Given the description of an element on the screen output the (x, y) to click on. 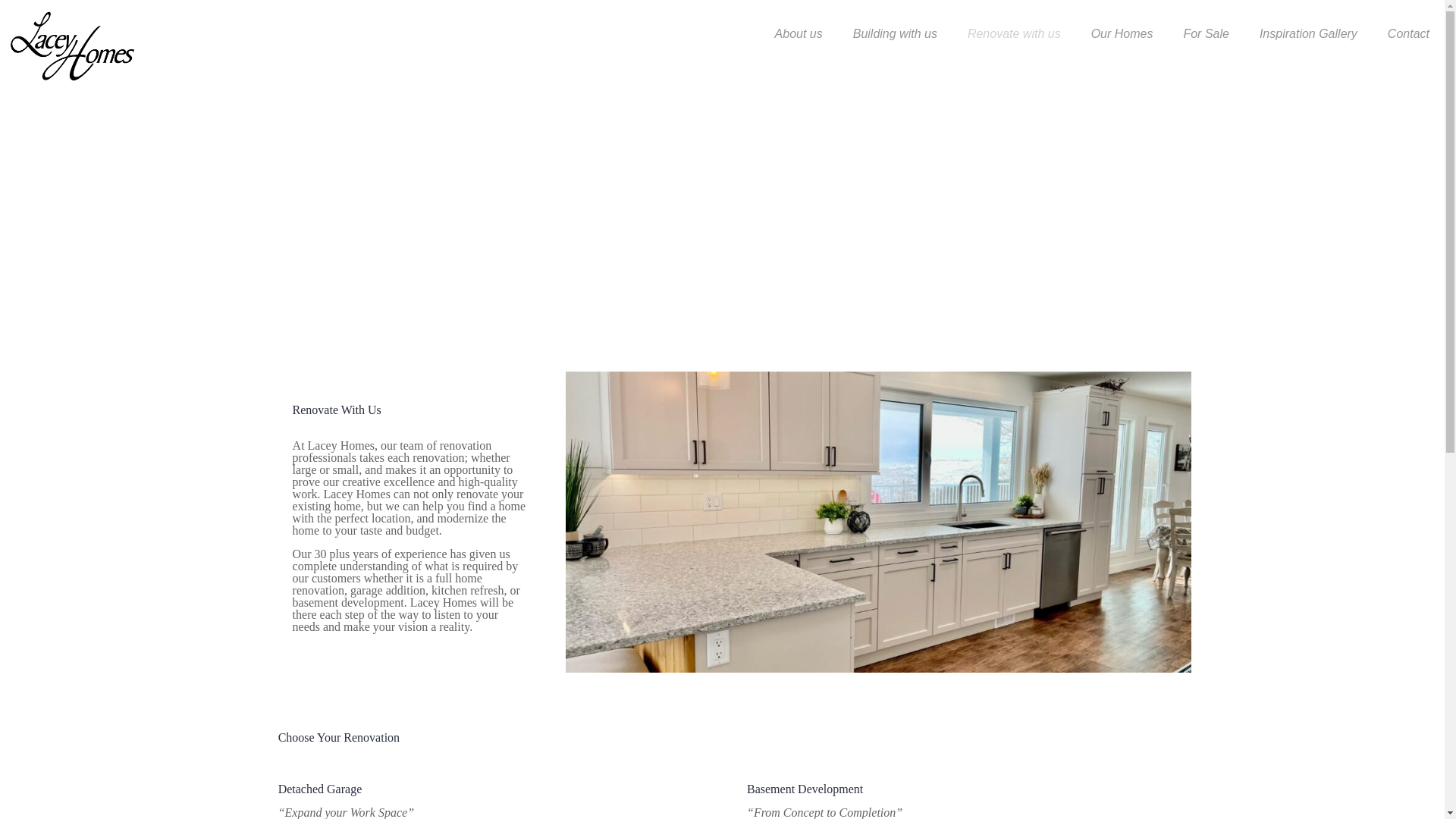
Our Homes (1122, 33)
Inspiration Gallery (1308, 33)
Lacey Homes (72, 45)
For Sale (1205, 33)
Renovate with us (1013, 33)
Building with us (895, 33)
About us (799, 33)
